Given the description of an element on the screen output the (x, y) to click on. 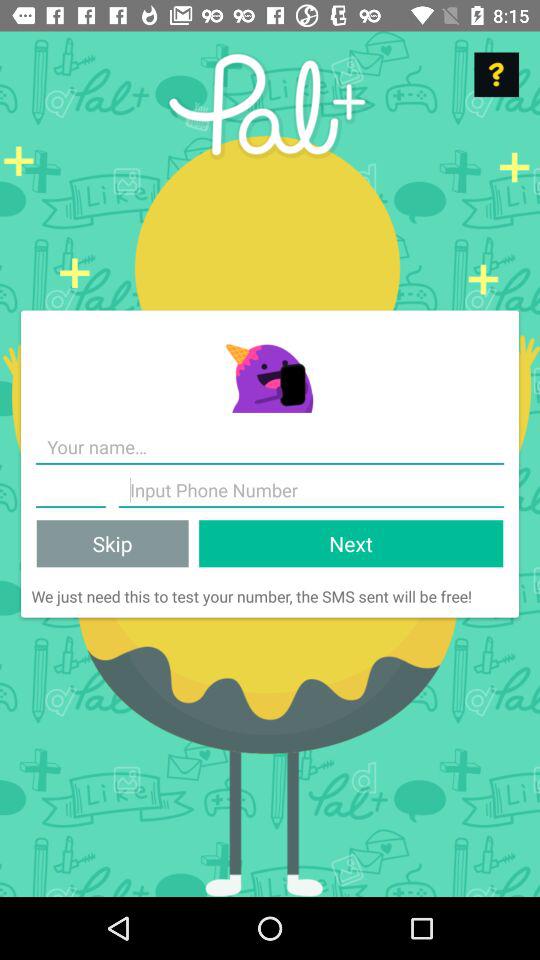
tap the item above the skip icon (70, 490)
